Given the description of an element on the screen output the (x, y) to click on. 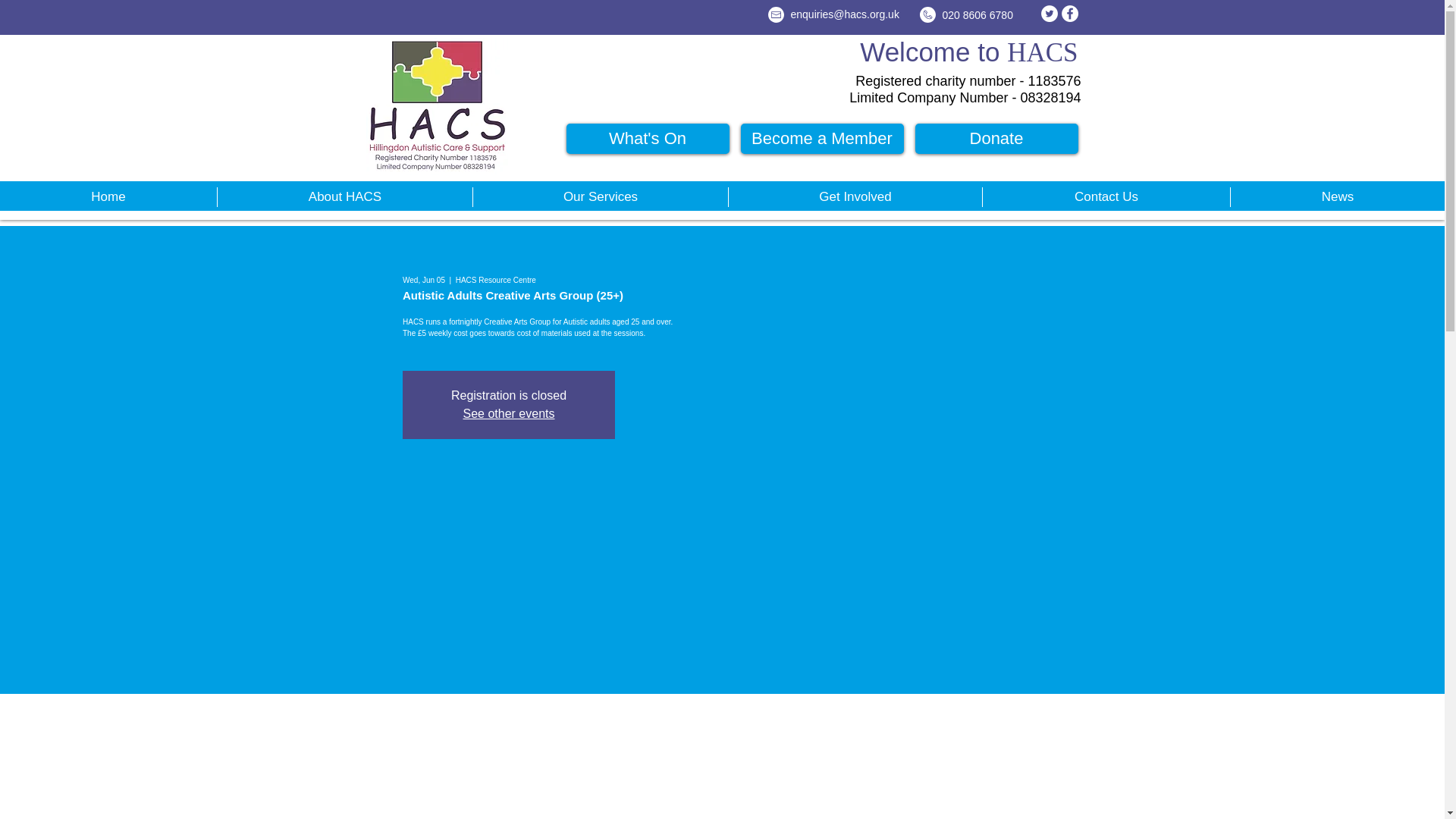
Become a Member (820, 138)
020 8606 6780 (976, 15)
What's On (647, 138)
Get Involved (854, 197)
Home (108, 197)
Donate (995, 138)
See other events (508, 413)
Contact Us (1105, 197)
